Given the description of an element on the screen output the (x, y) to click on. 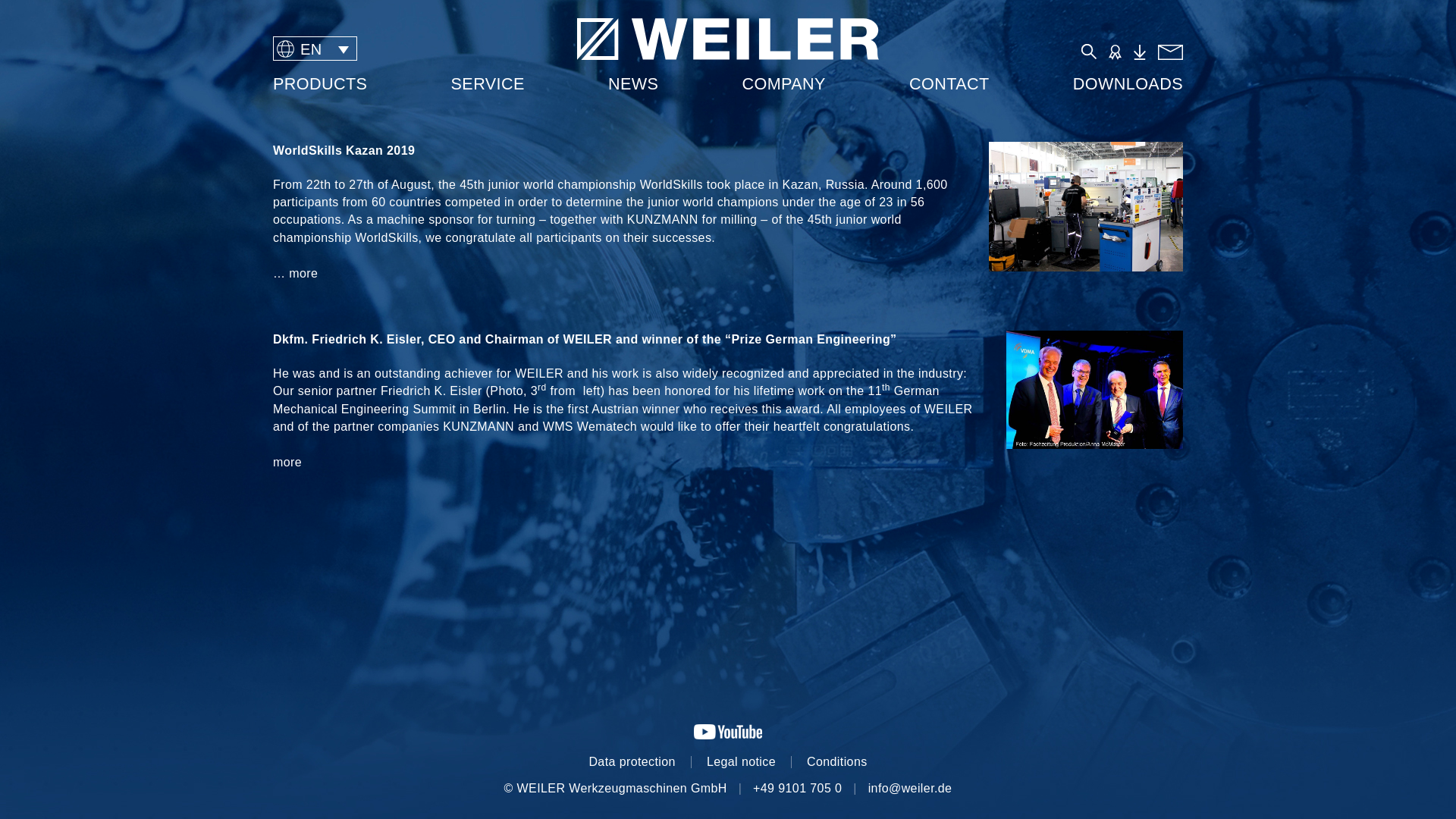
NEWS (632, 84)
COMPANY (783, 84)
PRODUCTS (325, 84)
CONTACT (949, 84)
SERVICE (487, 84)
EN (314, 48)
